Given the description of an element on the screen output the (x, y) to click on. 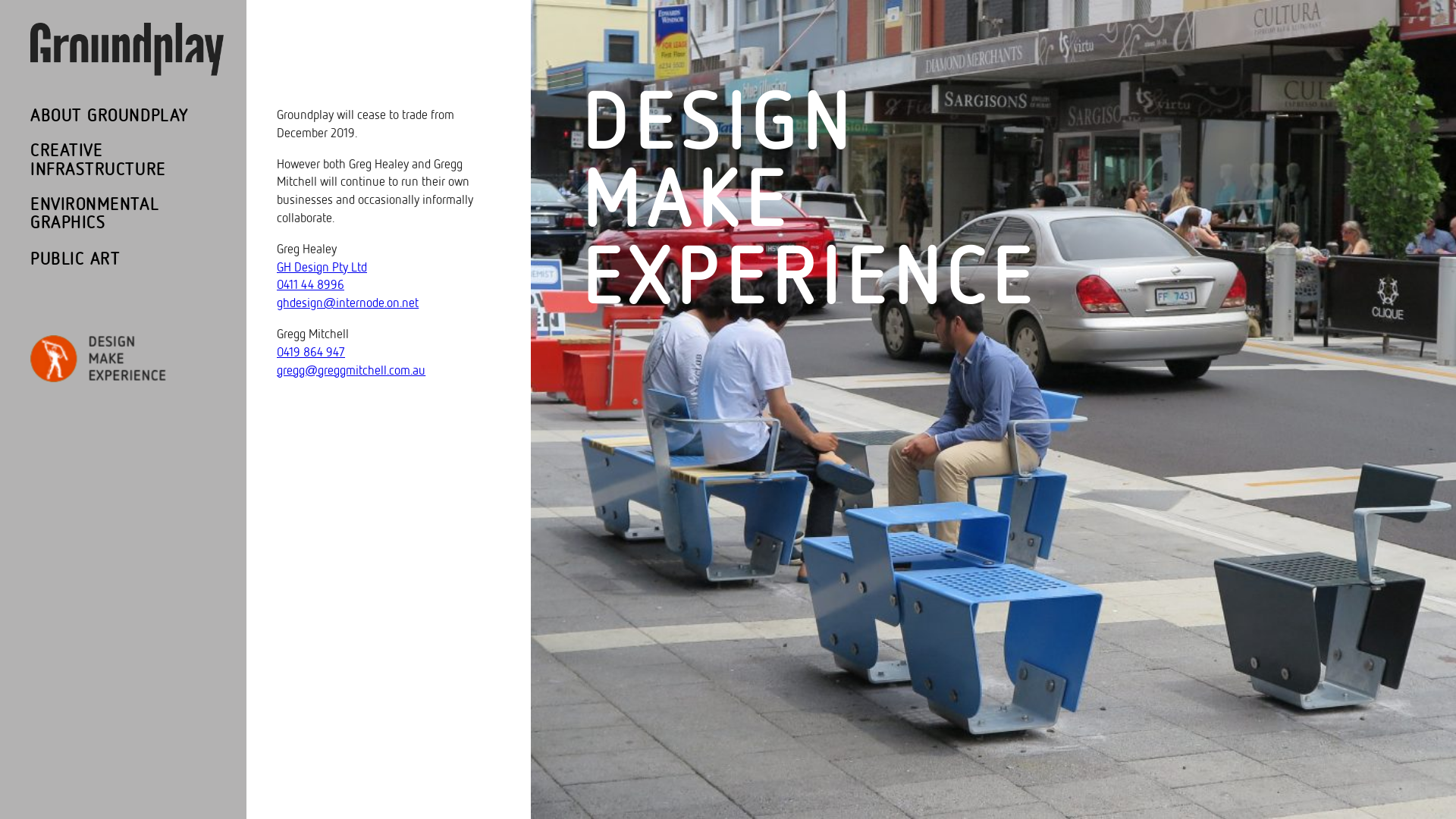
0419 864 947 Element type: text (310, 352)
0411 44 8996 Element type: text (310, 284)
ENVIRONMENTAL GRAPHICS Element type: text (113, 213)
CREATIVE INFRASTRUCTURE Element type: text (113, 159)
ABOUT GROUNDPLAY Element type: text (109, 115)
PUBLIC ART Element type: text (74, 259)
GH Design Pty Ltd Element type: text (321, 267)
ghdesign@internode.on.net Element type: text (347, 302)
gregg@greggmitchell.com.au Element type: text (350, 370)
